Given the description of an element on the screen output the (x, y) to click on. 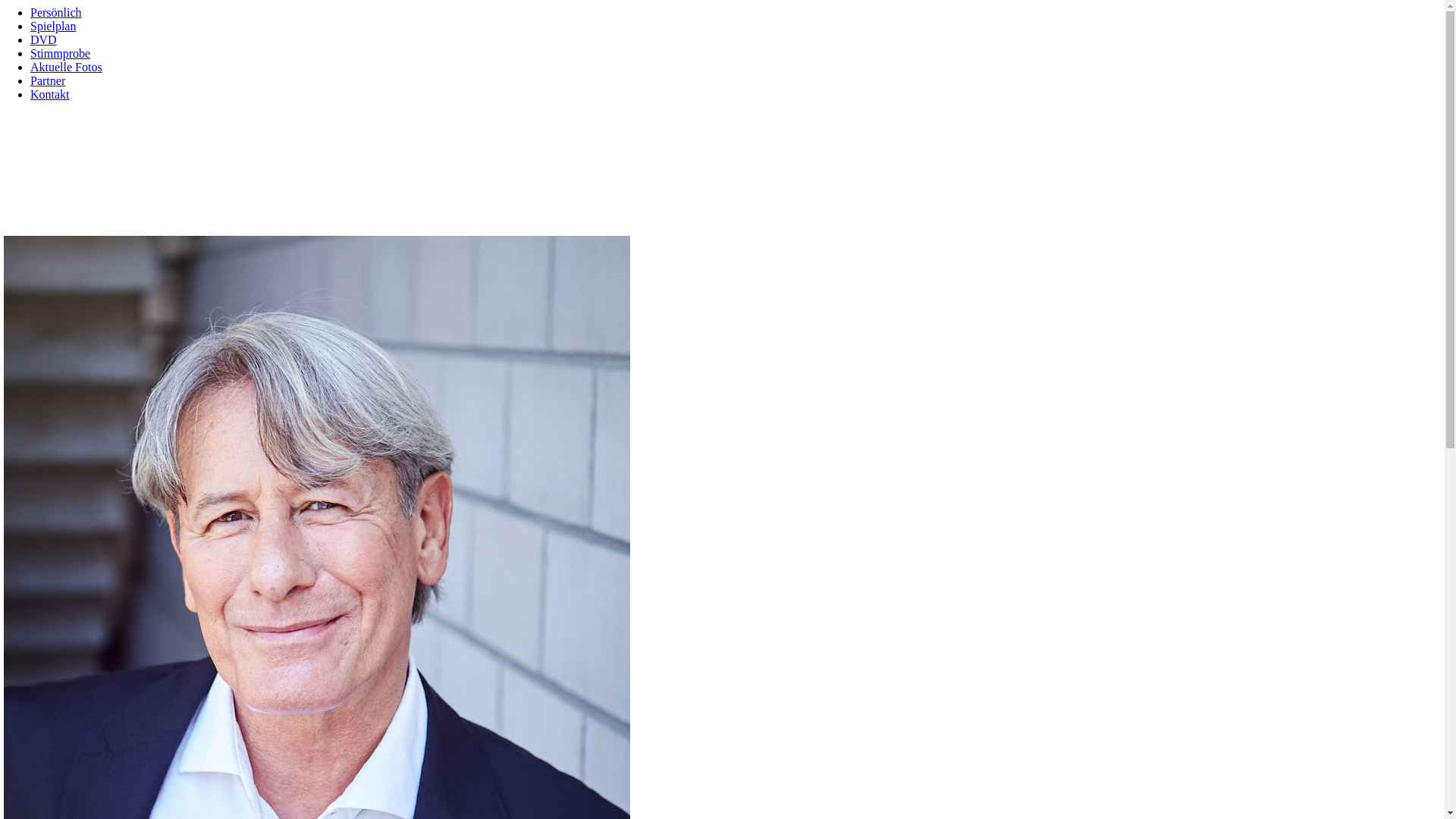
Kontakt Element type: text (49, 93)
Stimmprobe Element type: text (60, 53)
Spielplan Element type: text (52, 25)
Partner Element type: text (47, 80)
Aktuelle Fotos Element type: text (66, 66)
DVD Element type: text (43, 39)
